Given the description of an element on the screen output the (x, y) to click on. 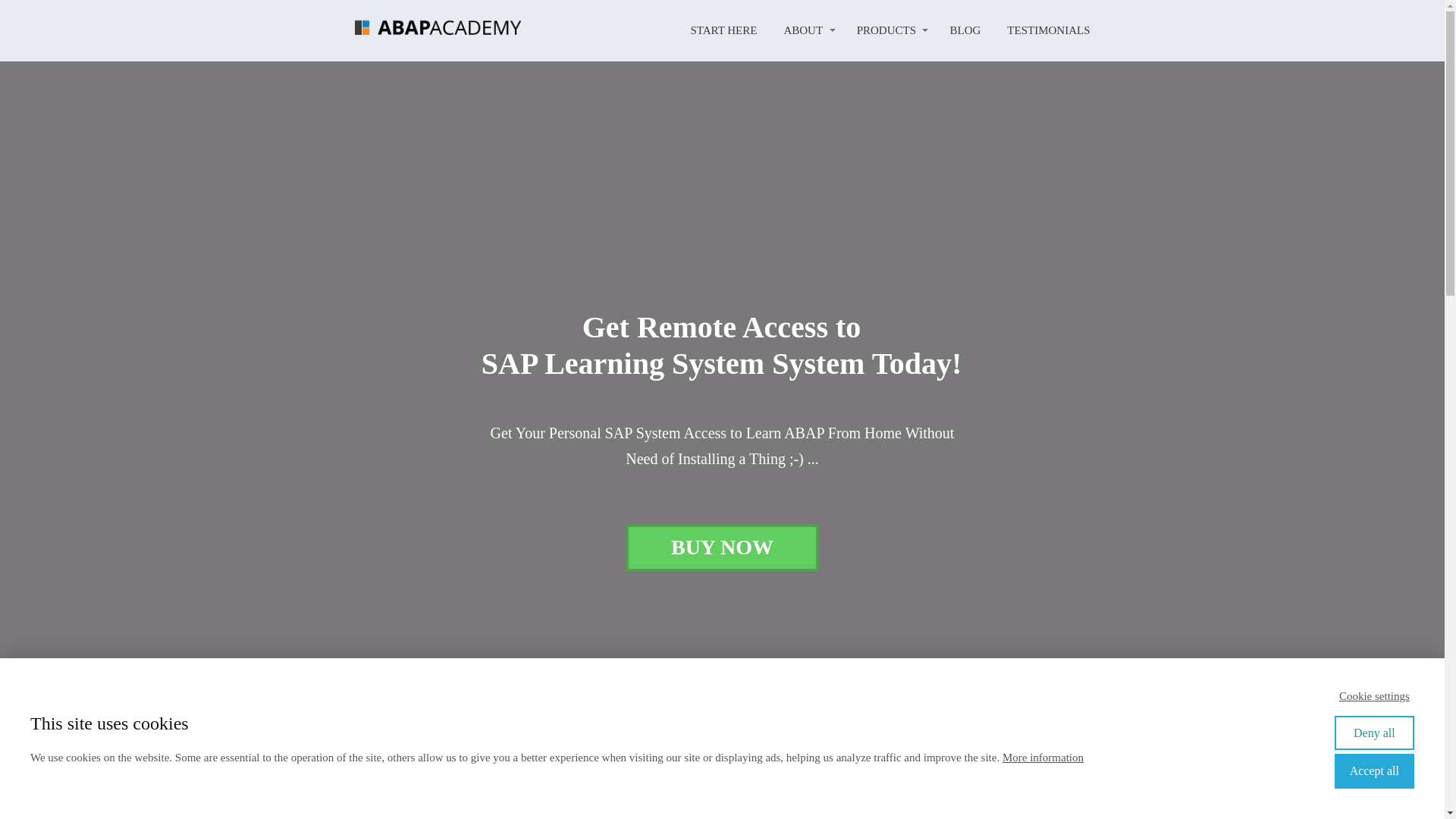
BLOG (964, 30)
ABOUT (808, 30)
START HERE (723, 30)
BUY NOW (722, 547)
Accept all (1374, 770)
ABAP Academy (438, 30)
More information (1043, 757)
Cookie settings (1374, 696)
Deny all (1374, 733)
TESTIMONIALS (1048, 30)
